Given the description of an element on the screen output the (x, y) to click on. 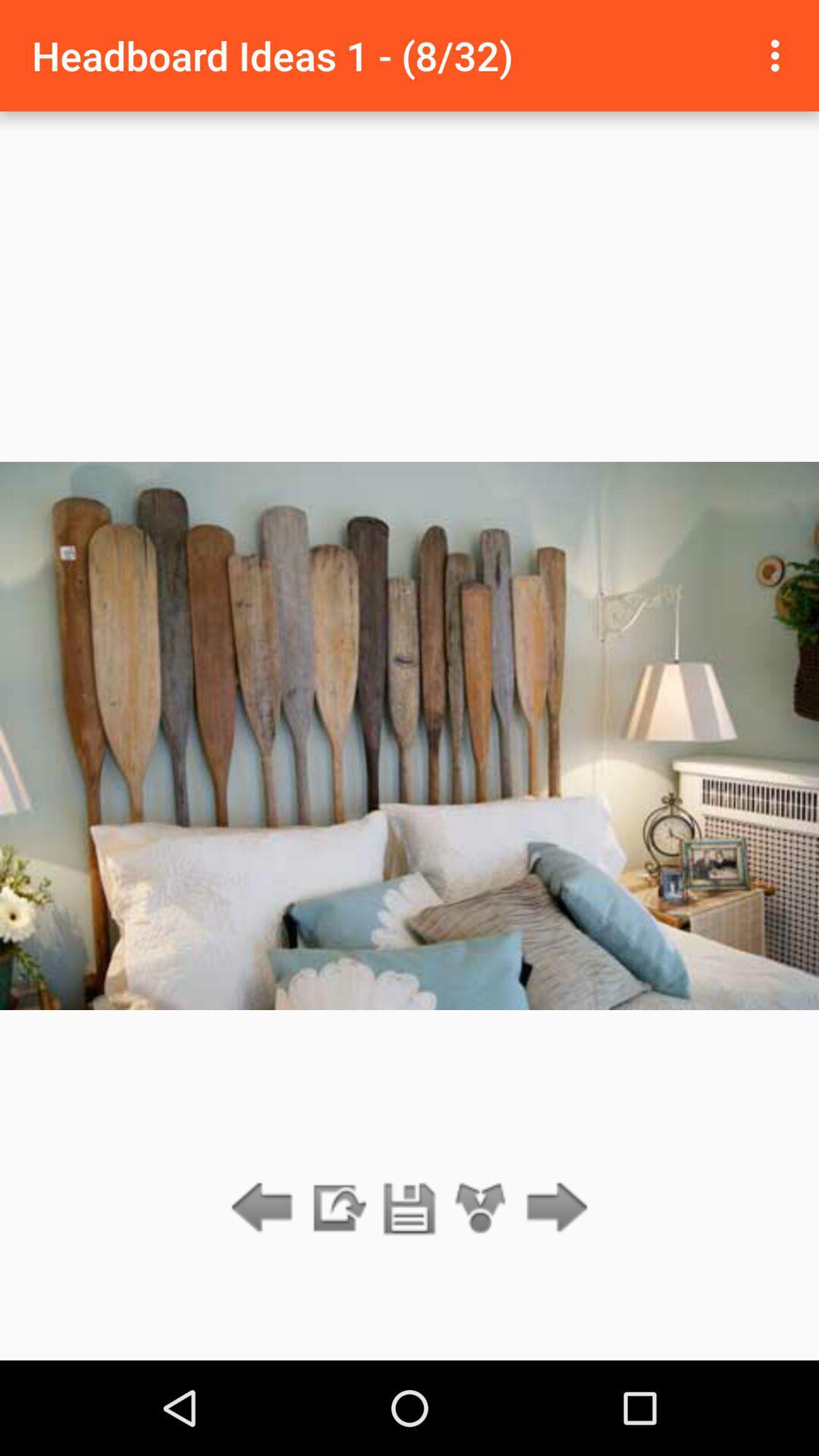
press the icon below the headboard ideas 1 (337, 1208)
